Given the description of an element on the screen output the (x, y) to click on. 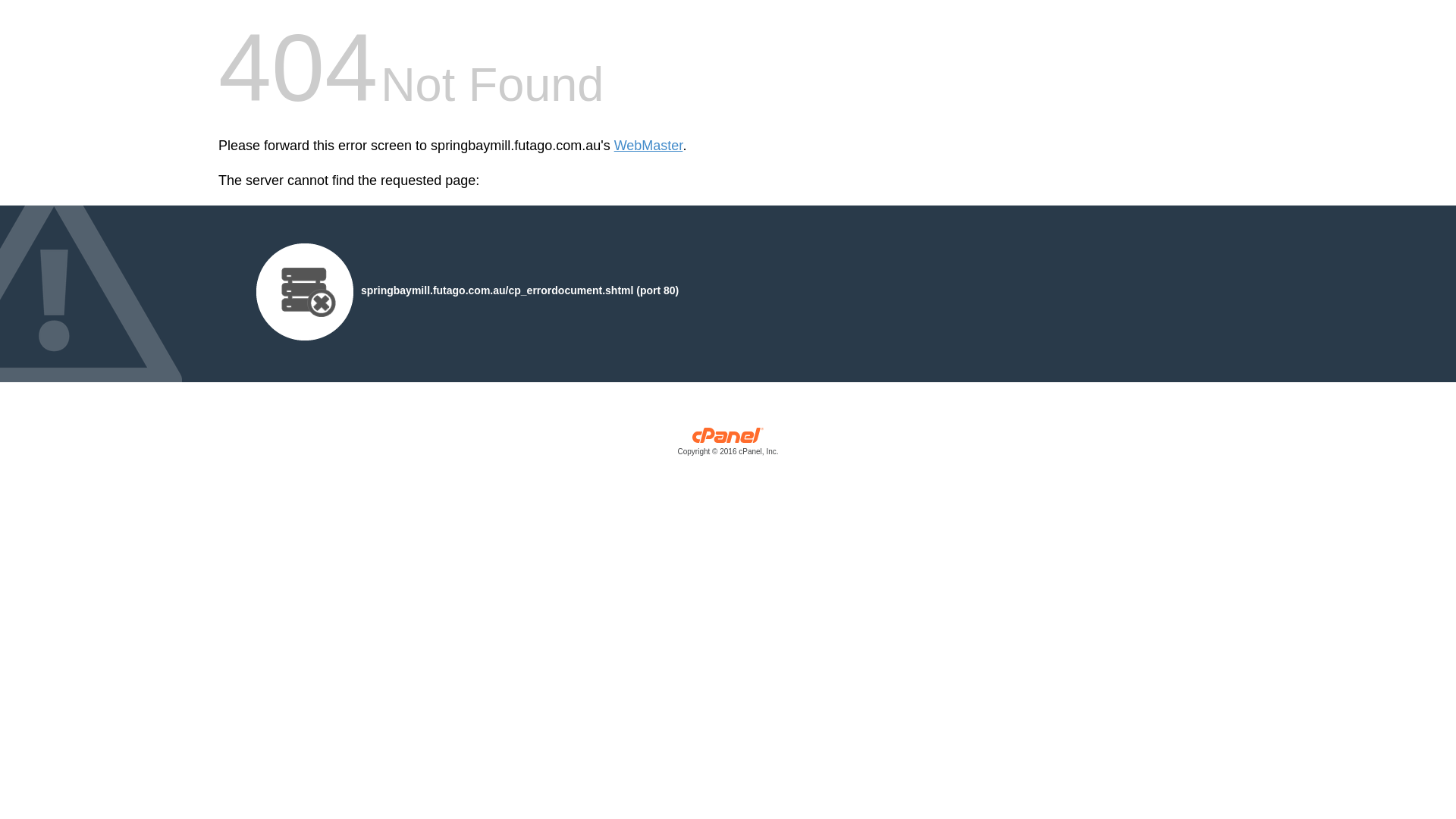
WebMaster Element type: text (648, 145)
